Given the description of an element on the screen output the (x, y) to click on. 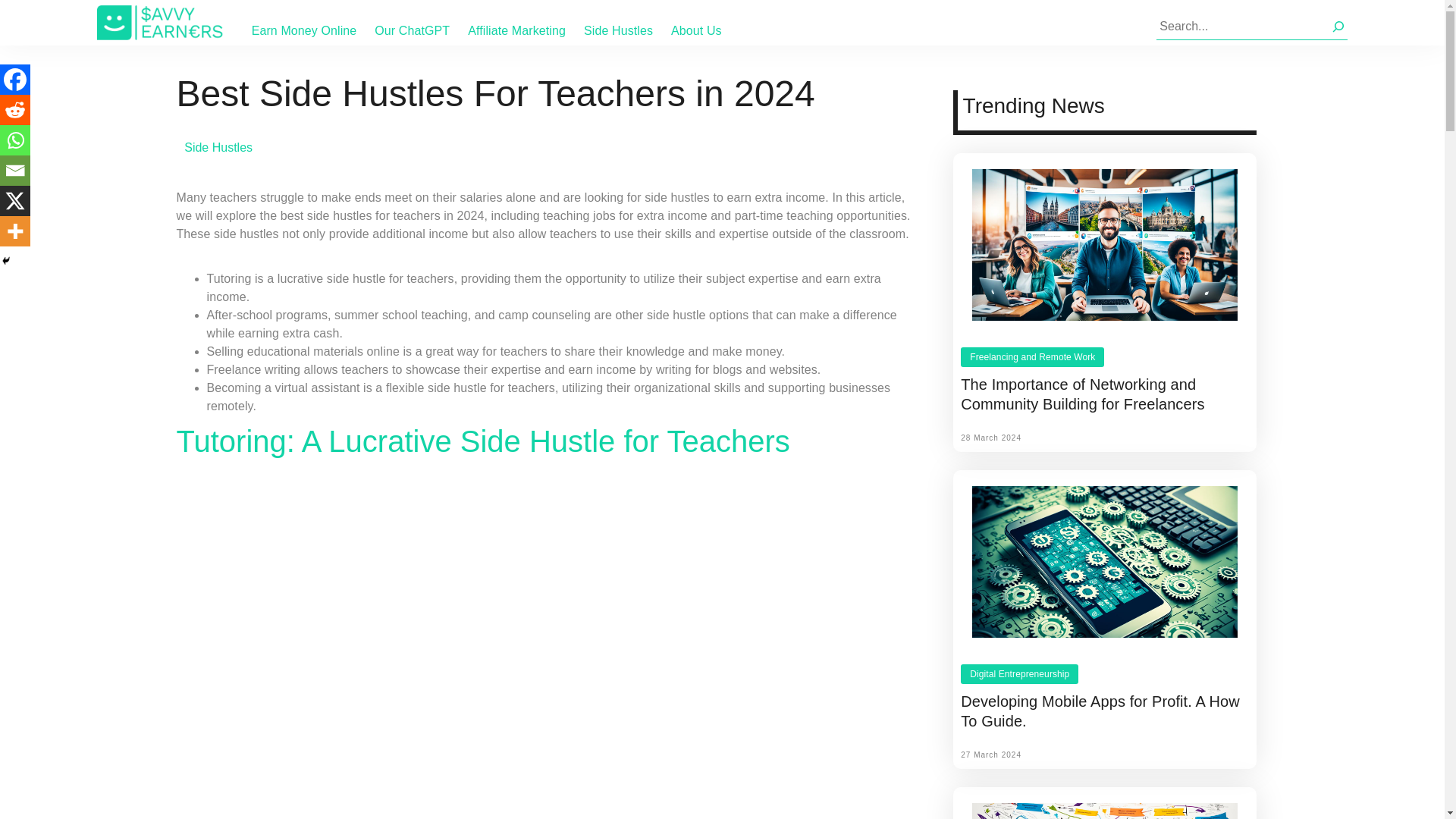
Earn Money Online (303, 31)
Reddit (15, 110)
link to our chatGPT  (411, 31)
About Us (696, 31)
Freelancing and Remote Work (1031, 356)
Side Hustles (217, 146)
Whatsapp (15, 140)
More (15, 231)
Email (15, 170)
Facebook (15, 79)
X (15, 200)
Digital Entrepreneurship (1019, 673)
Our ChatGPT (411, 31)
